Given the description of an element on the screen output the (x, y) to click on. 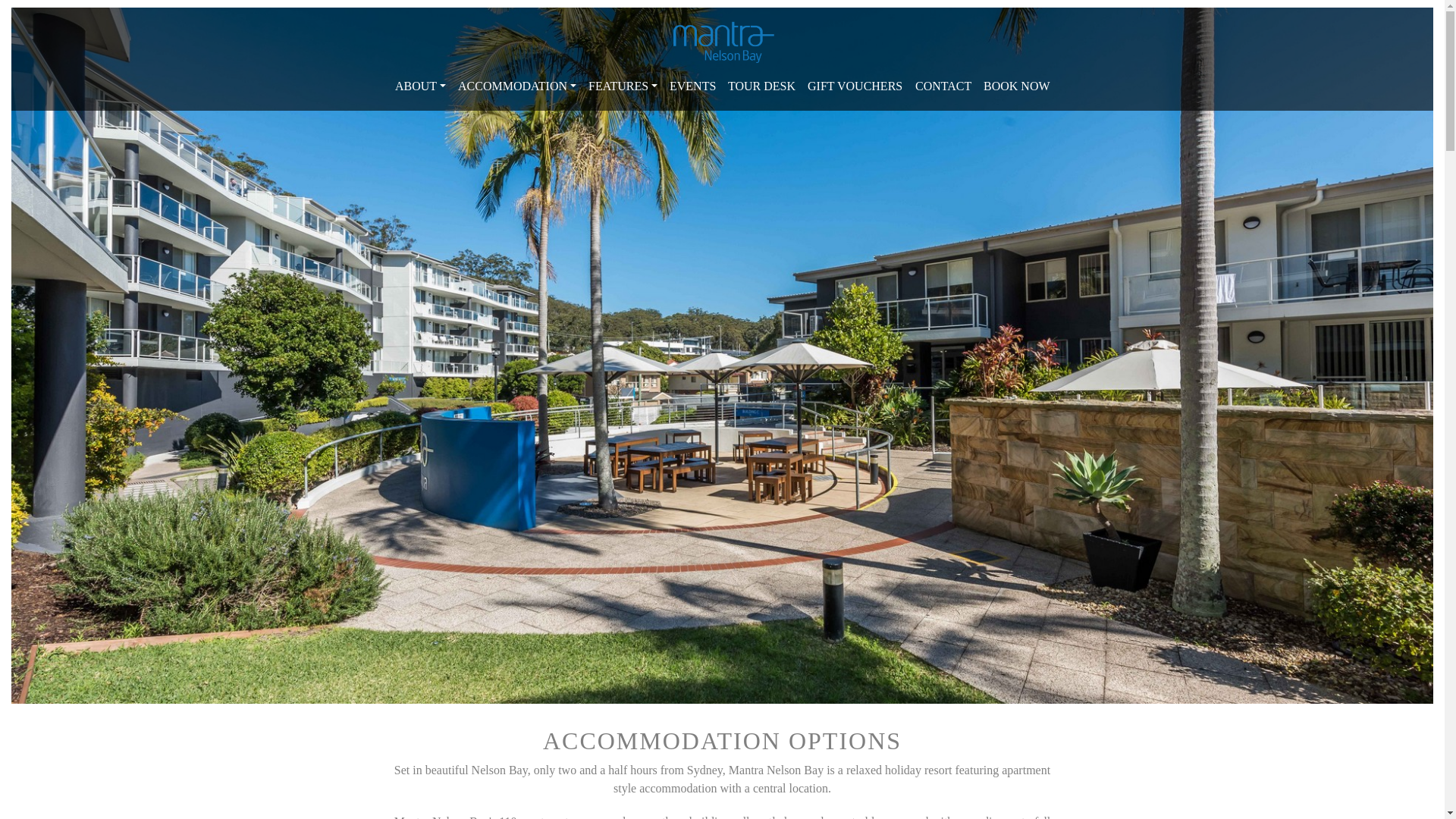
TOUR DESK Element type: text (761, 86)
ABOUT Element type: text (420, 86)
BOOK NOW Element type: text (1016, 86)
EVENTS Element type: text (692, 86)
ACCOMMODATION Element type: text (516, 86)
CONTACT Element type: text (943, 86)
GIFT VOUCHERS Element type: text (854, 86)
FEATURES Element type: text (622, 86)
